Given the description of an element on the screen output the (x, y) to click on. 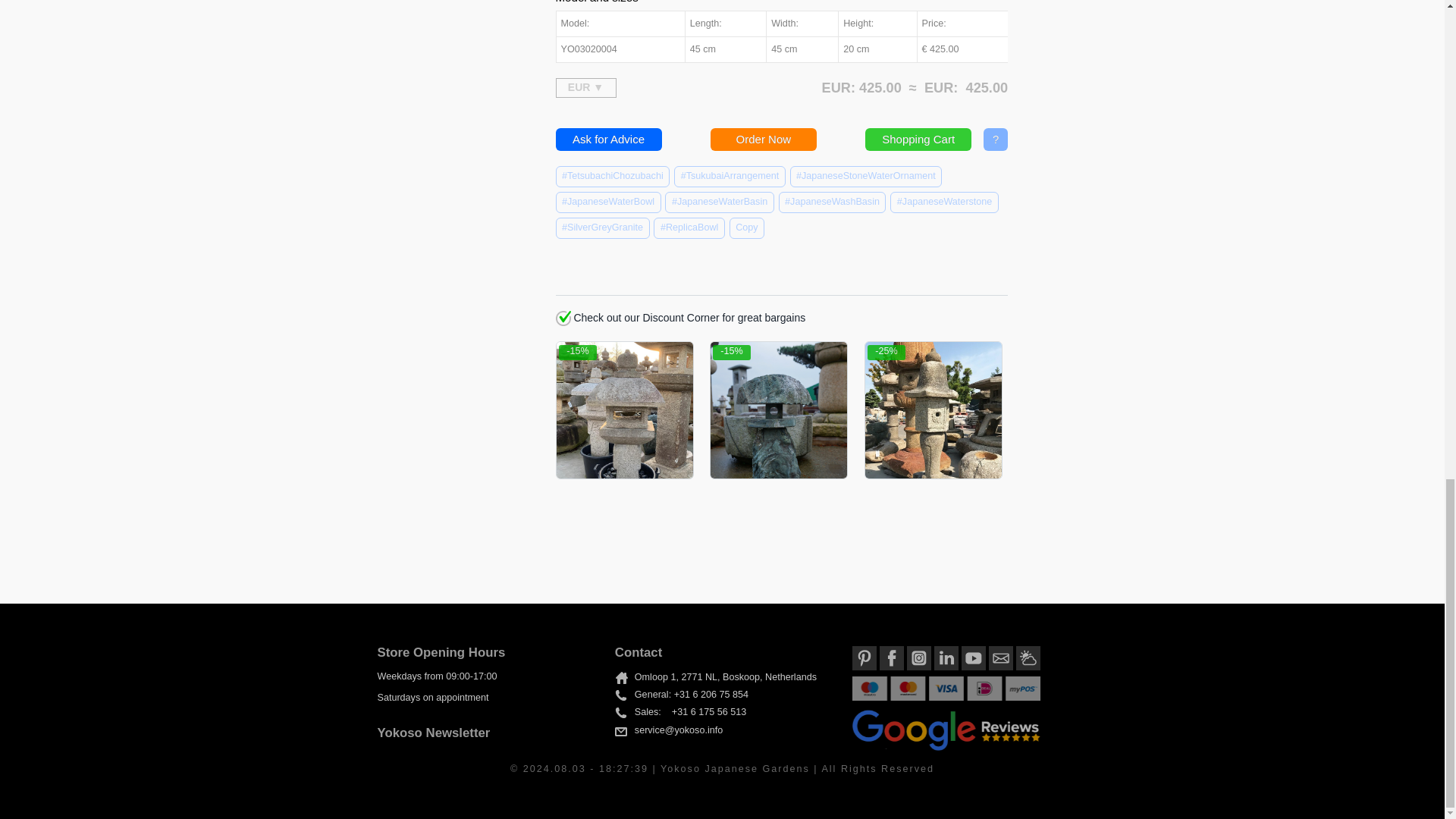
Shikoku Yamadoro, Japanese Stone Lantern - YO01010297 (778, 410)
Saimyo-ji Ishidoro, Japanese Stone Lantern - YO01010067 (932, 410)
Check out our Discount Corner for great bargains (562, 318)
Oribe Gata Ishidoro, Japanese Stone Lantern - YO01010137 (624, 410)
